Given the description of an element on the screen output the (x, y) to click on. 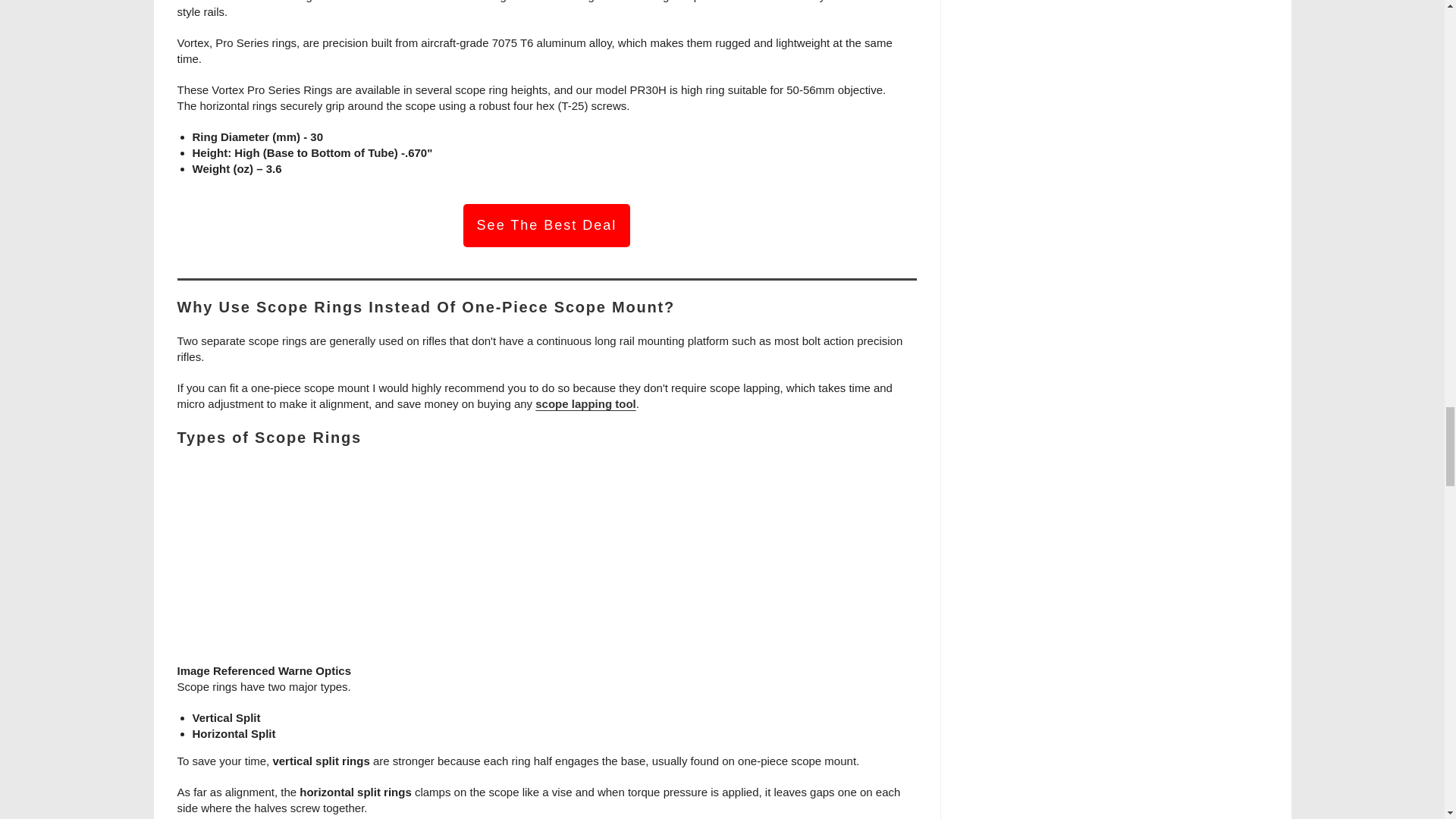
Best 30mm Scope Rings For The Money 2 (546, 562)
